Given the description of an element on the screen output the (x, y) to click on. 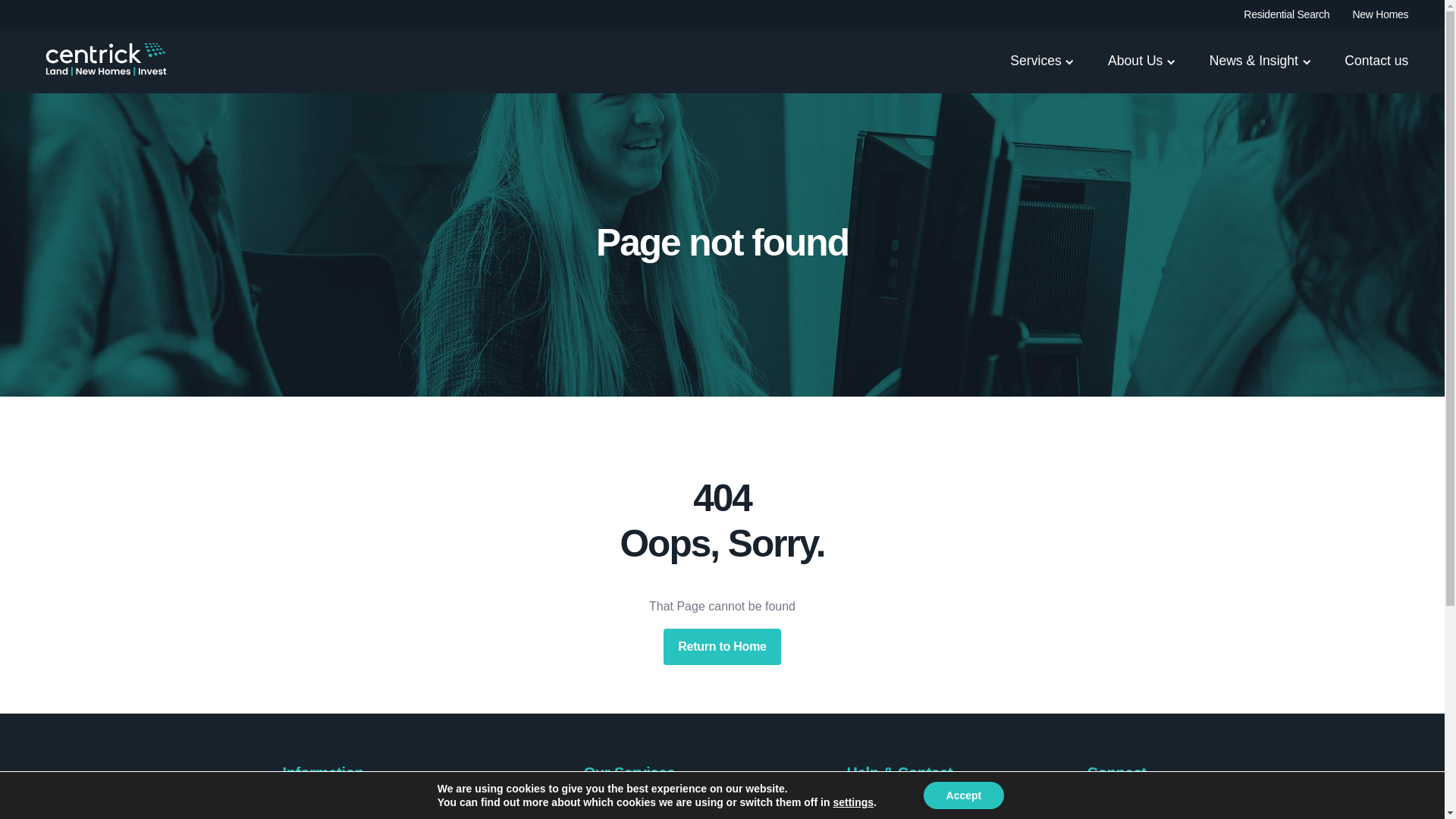
Residential Search (1286, 14)
About Us (1134, 71)
Services (1035, 71)
New Homes (1379, 14)
Contact us (1375, 71)
